Given the description of an element on the screen output the (x, y) to click on. 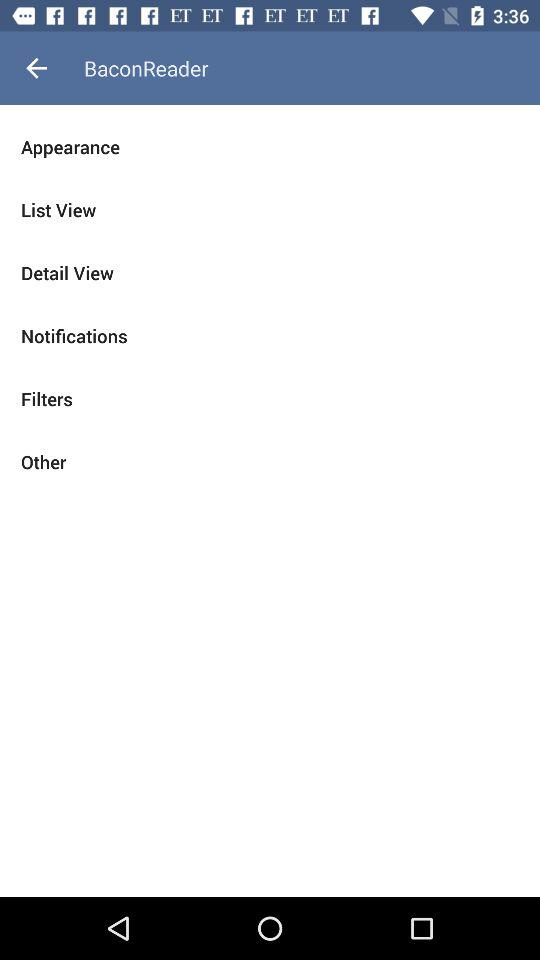
turn off the icon next to baconreader (36, 68)
